Given the description of an element on the screen output the (x, y) to click on. 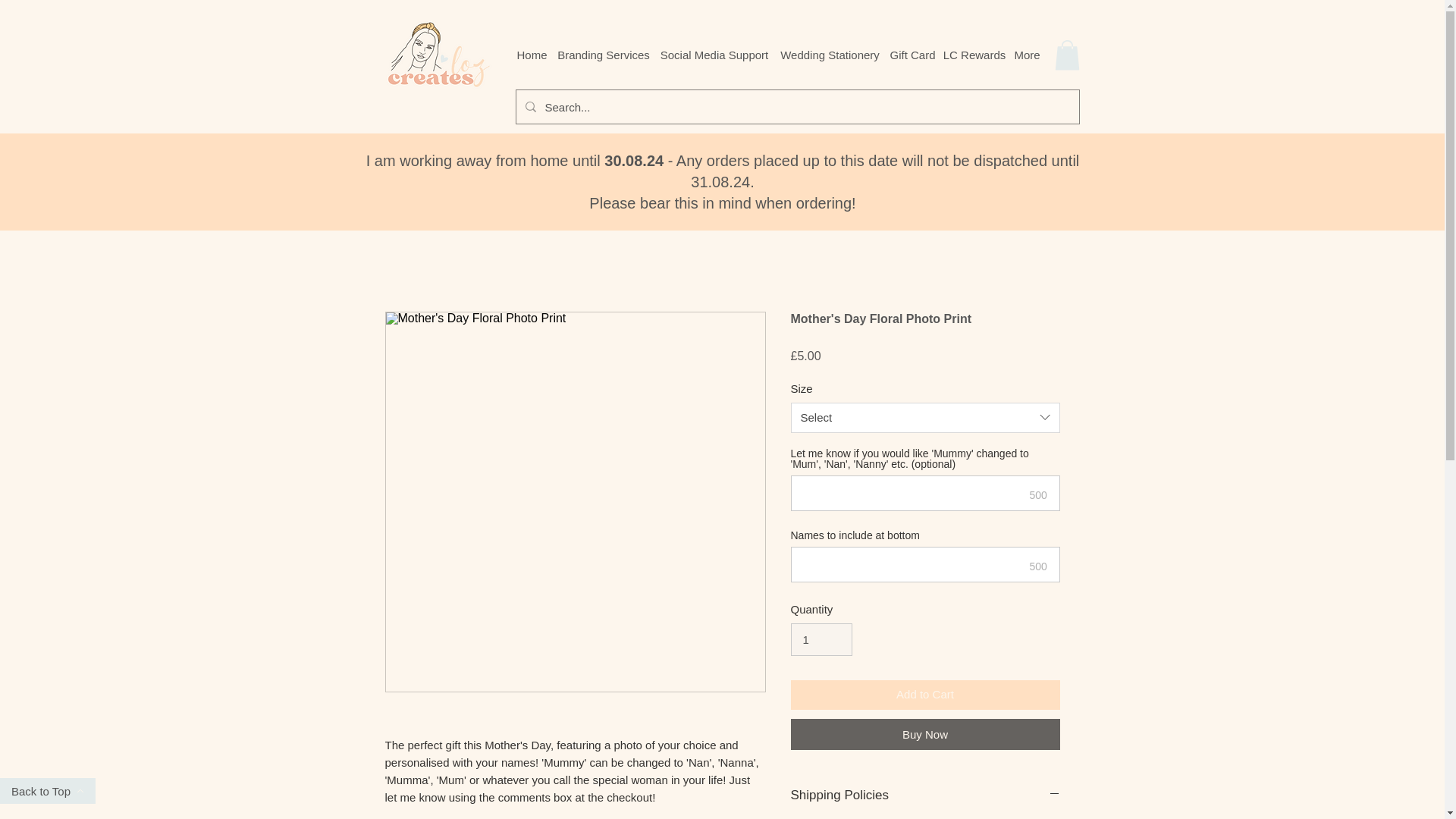
Branding Services (603, 55)
Add to Cart (924, 695)
Back to Top (48, 790)
Social Media Support (714, 55)
Buy Now (924, 734)
LC Rewards (974, 55)
Select (924, 417)
Shipping Policies (924, 795)
Wedding Stationery (829, 55)
1 (820, 639)
